Given the description of an element on the screen output the (x, y) to click on. 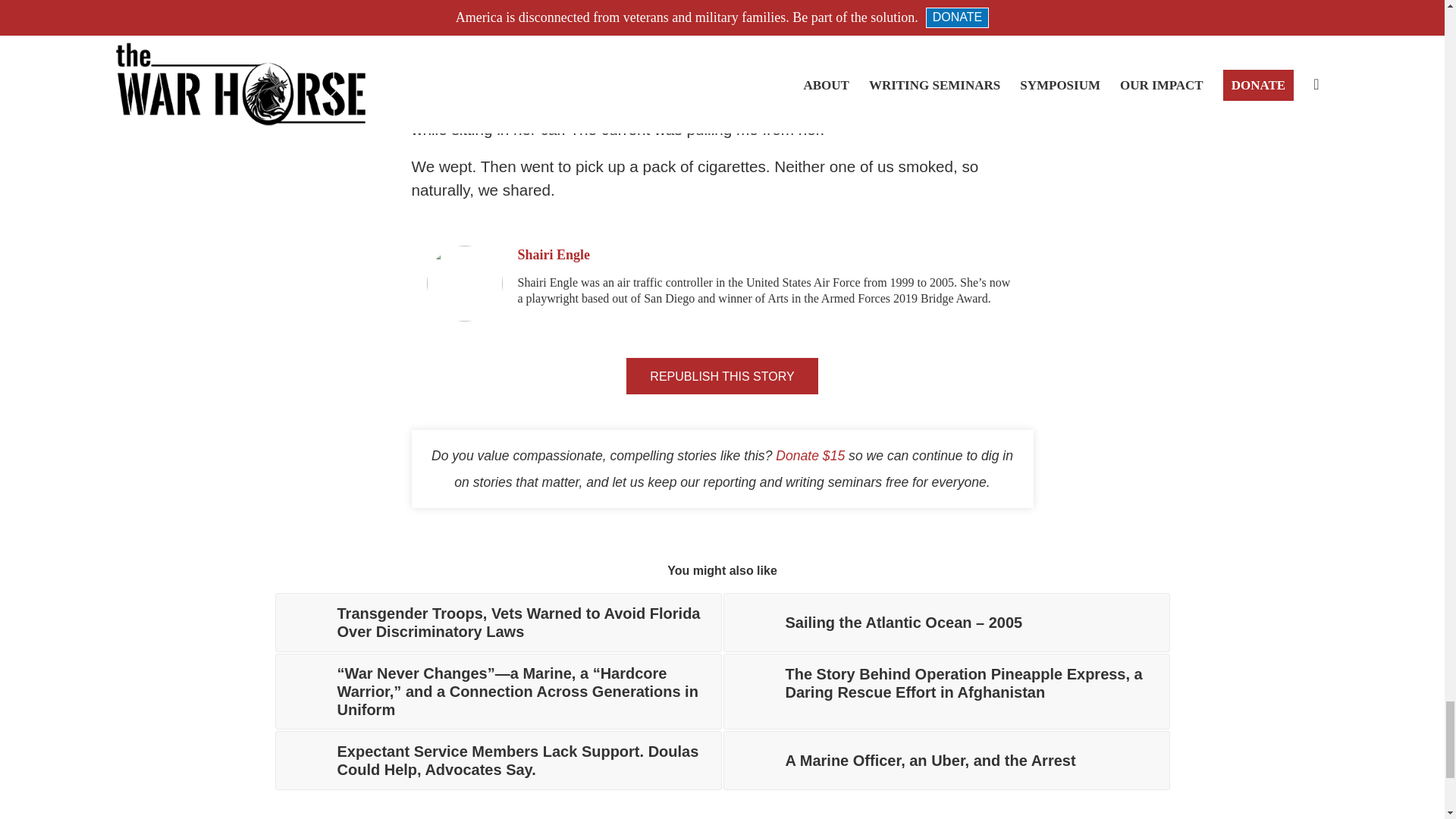
REPUBLISH THIS STORY (721, 375)
Shairi Engle (552, 254)
